Given the description of an element on the screen output the (x, y) to click on. 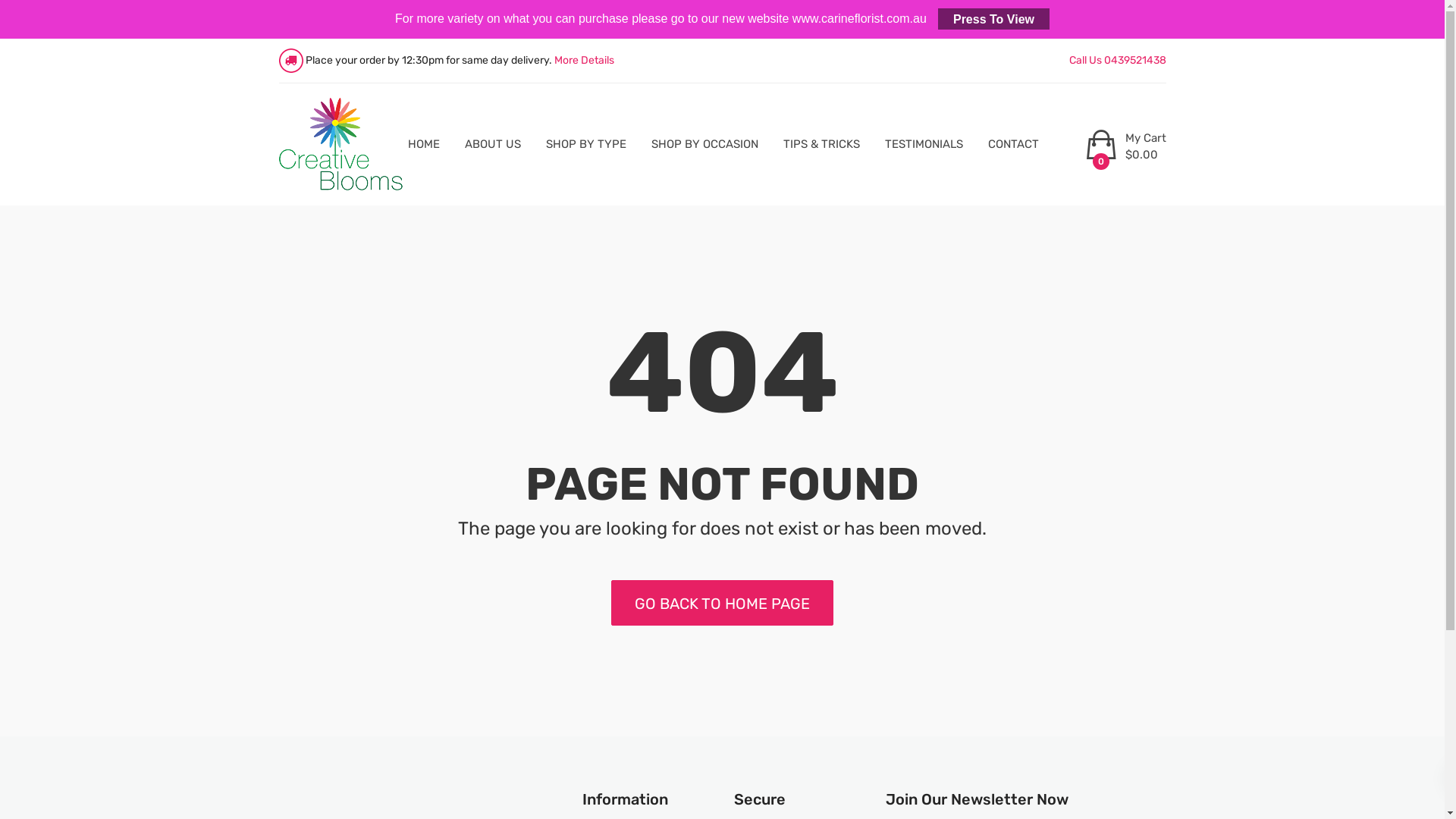
TIPS & TRICKS Element type: text (820, 144)
Call Us 0439521438 Element type: text (1117, 59)
TESTIMONIALS Element type: text (923, 144)
HOME Element type: text (423, 144)
Creative Blooms Element type: hover (340, 143)
CONTACT Element type: text (1012, 144)
SHOP BY TYPE Element type: text (586, 144)
More Details Element type: text (583, 59)
GO BACK TO HOME PAGE Element type: text (722, 602)
ABOUT US Element type: text (492, 144)
Press To View Element type: text (993, 18)
0
My Cart
$0.00 Element type: text (1141, 156)
SHOP BY OCCASION Element type: text (703, 144)
